Given the description of an element on the screen output the (x, y) to click on. 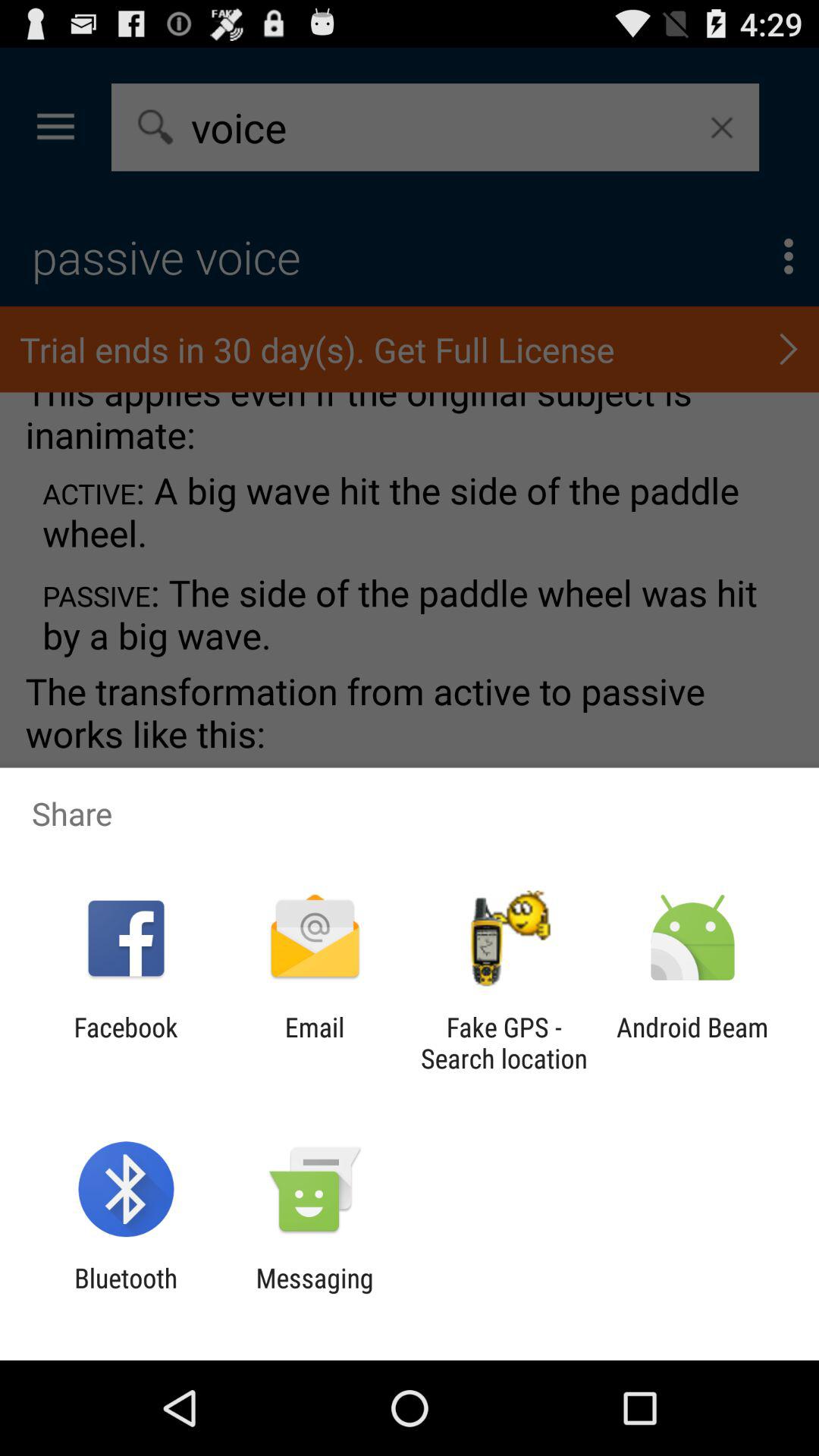
turn off app next to bluetooth item (314, 1293)
